Given the description of an element on the screen output the (x, y) to click on. 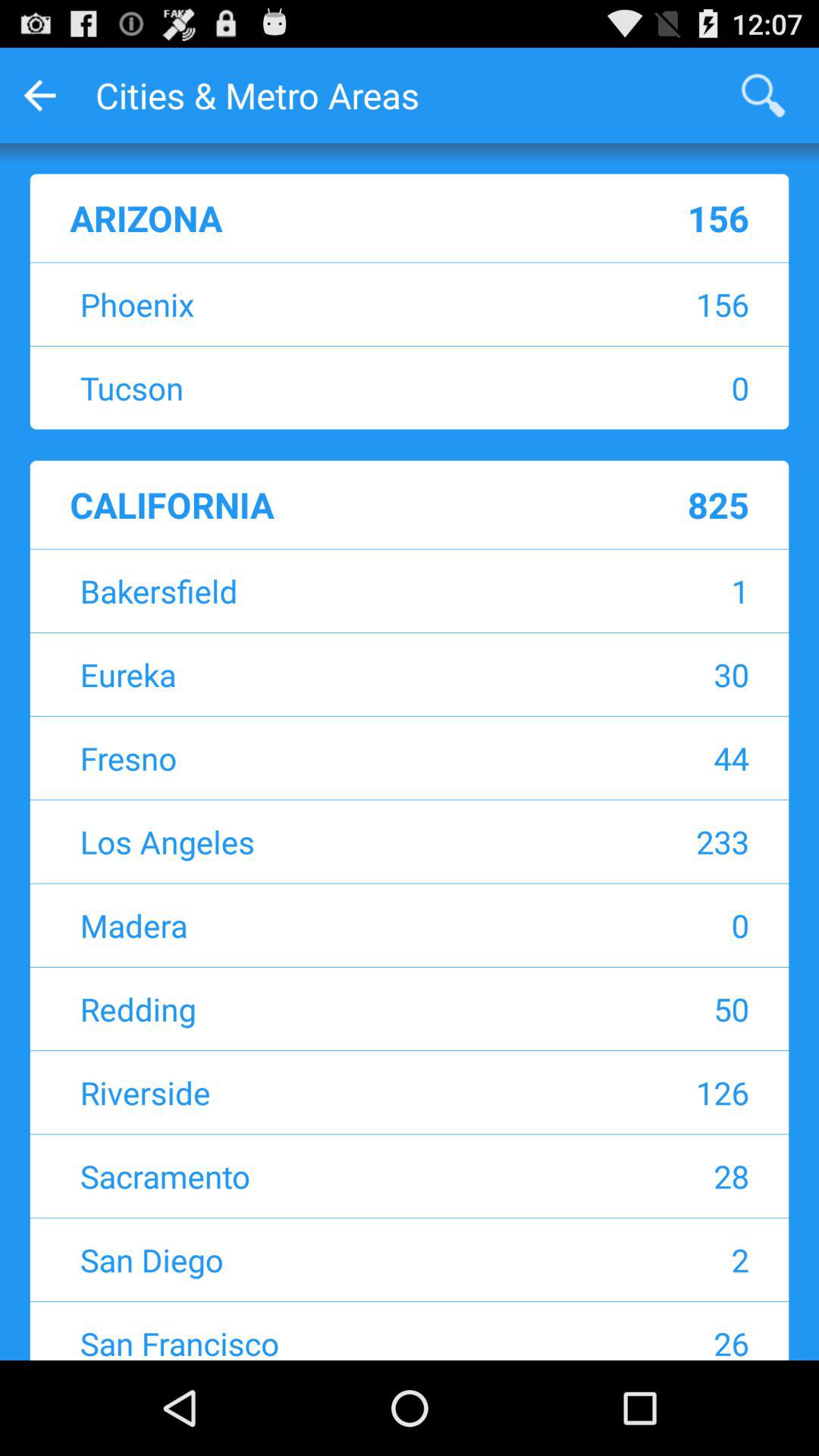
click redding item (314, 1008)
